Given the description of an element on the screen output the (x, y) to click on. 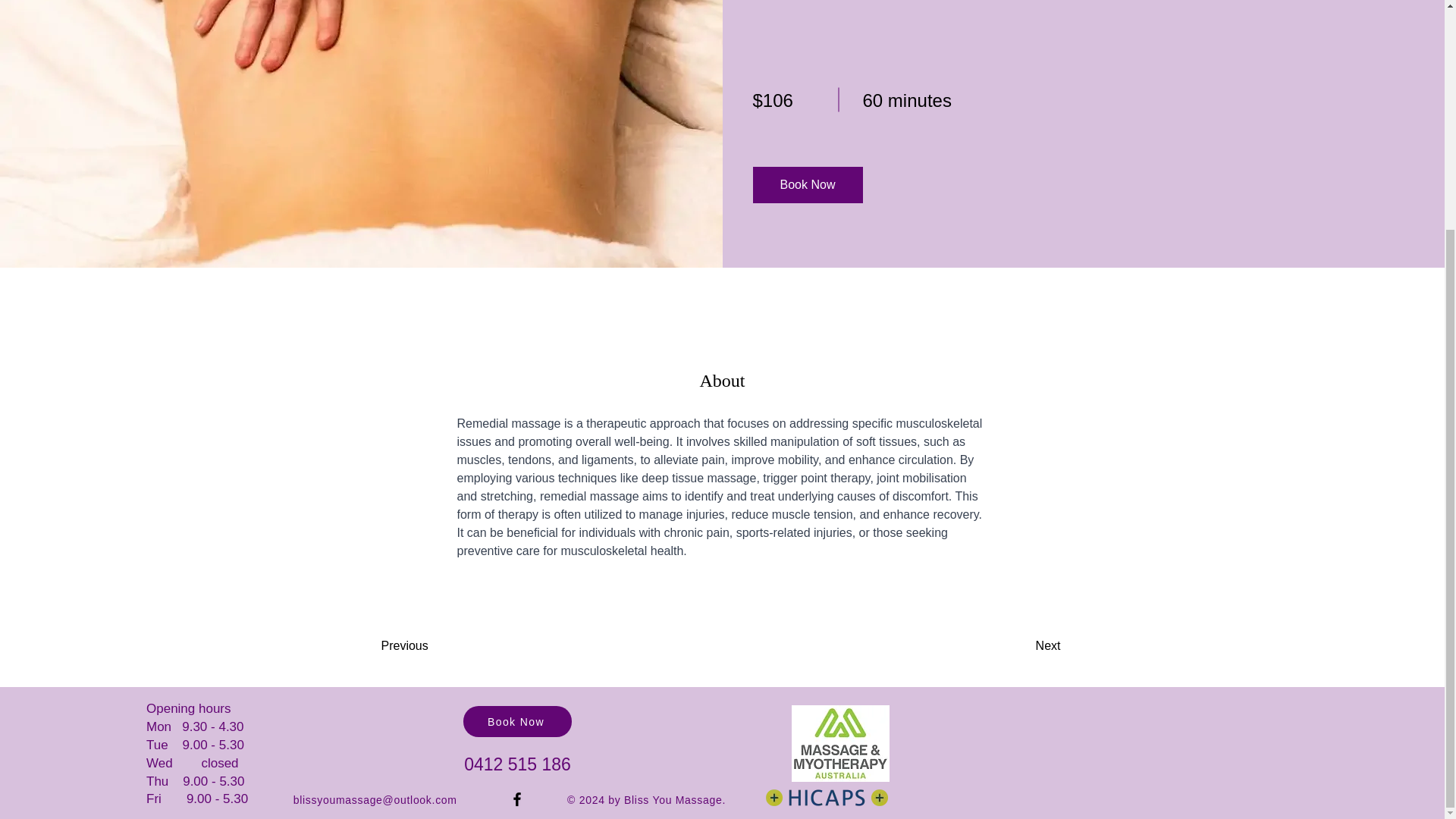
Previous (423, 646)
Next (1019, 646)
Book Now (517, 721)
Opening hours (189, 708)
